Given the description of an element on the screen output the (x, y) to click on. 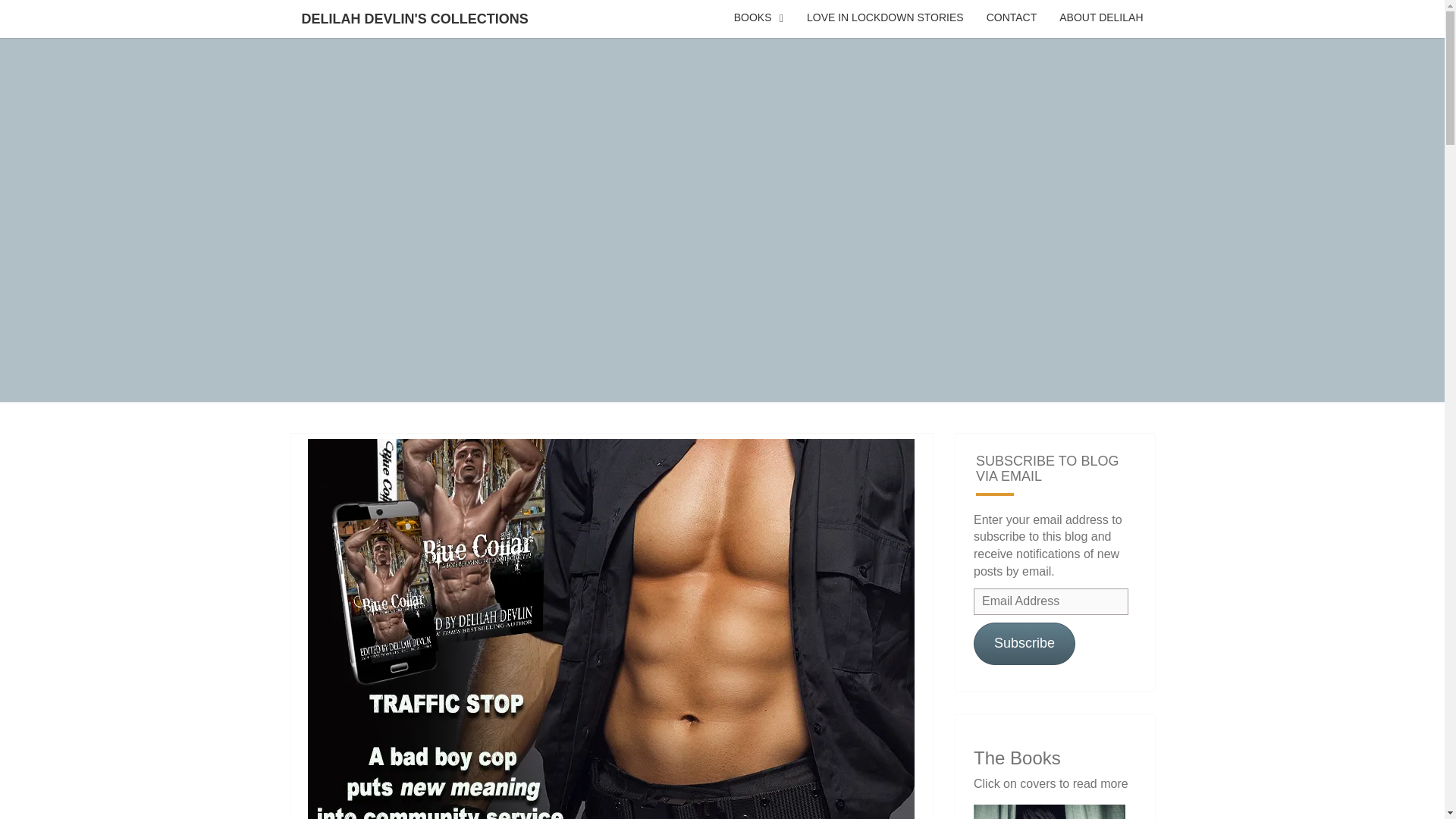
BOOKS (758, 18)
CONTACT (1011, 18)
ABOUT DELILAH (1101, 18)
DELILAH DEVLIN'S COLLECTIONS (413, 18)
LOVE IN LOCKDOWN STORIES (884, 18)
